Given the description of an element on the screen output the (x, y) to click on. 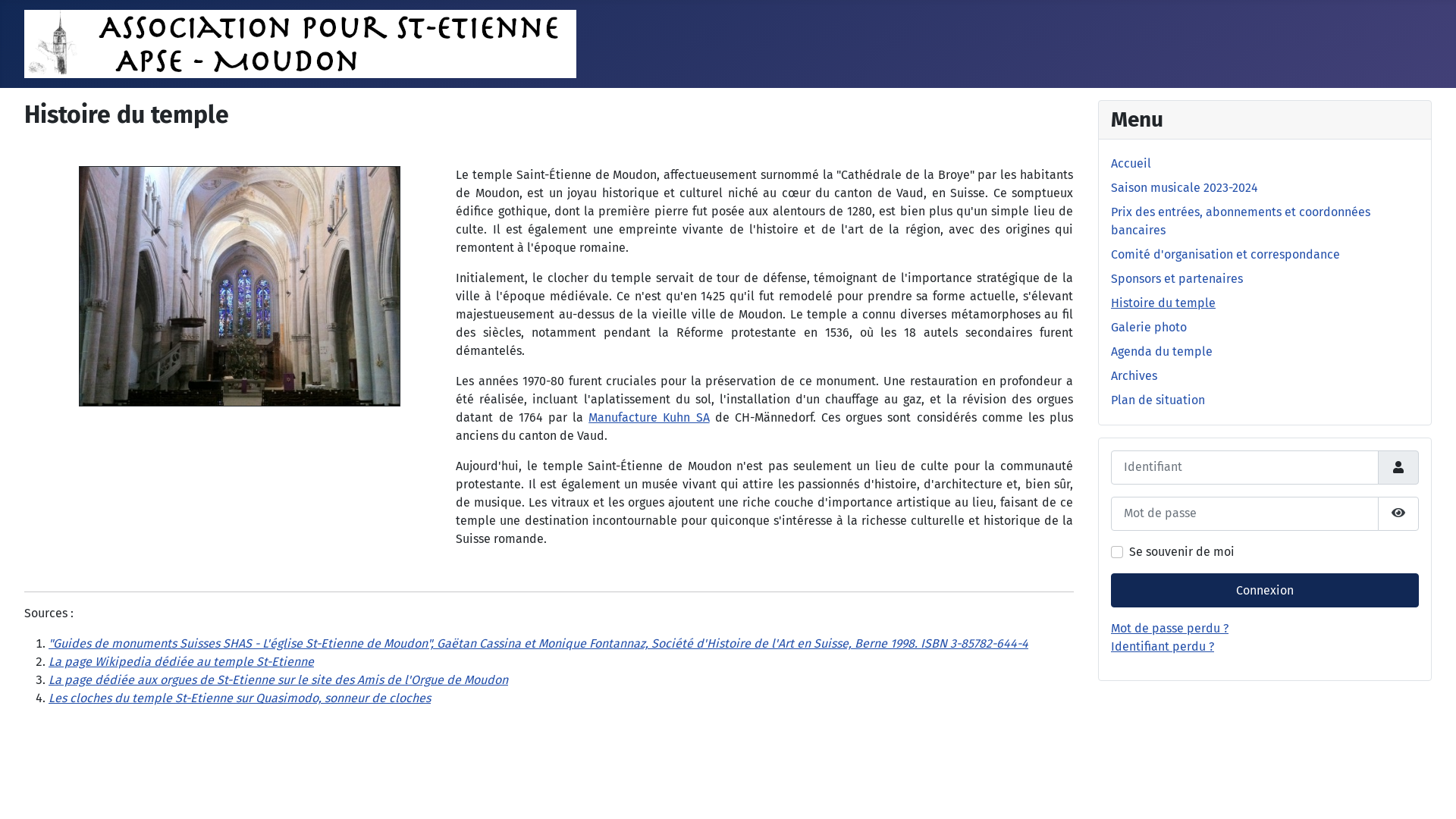
Manufacture Kuhn SA Element type: text (648, 417)
Identifiant Element type: hover (1397, 467)
Identifiant perdu ? Element type: text (1162, 646)
Connexion Element type: text (1264, 590)
Archives Element type: text (1133, 375)
Histoire du temple Element type: text (1162, 302)
Galerie photo Element type: text (1148, 327)
Mot de passe perdu ? Element type: text (1169, 628)
Agenda du temple Element type: text (1161, 351)
Plan de situation Element type: text (1157, 399)
Sponsors et partenaires Element type: text (1176, 278)
Accueil Element type: text (1130, 163)
Afficher le mot de passe Element type: text (1397, 513)
Saison musicale 2023-2024 Element type: text (1184, 187)
